Given the description of an element on the screen output the (x, y) to click on. 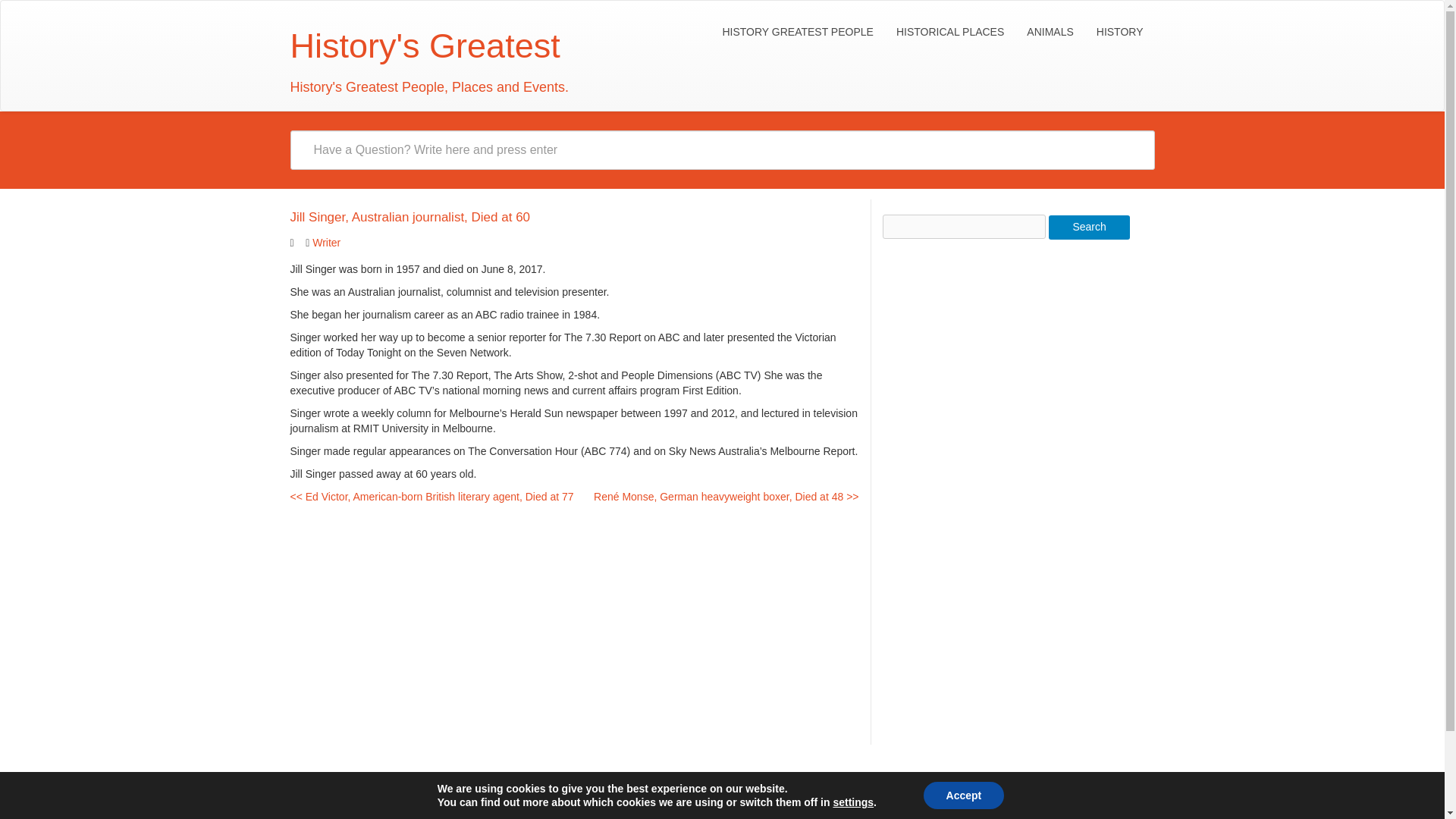
History's Greatest People, Places and Events. (424, 59)
HISTORY GREATEST PEOPLE (796, 31)
Writer (326, 242)
Search (1089, 227)
Advertisement (995, 489)
Search (1089, 227)
settings (852, 802)
HISTORY (1119, 31)
HISTORICAL PLACES (949, 31)
Accept (963, 795)
ANIMALS (1049, 31)
